Given the description of an element on the screen output the (x, y) to click on. 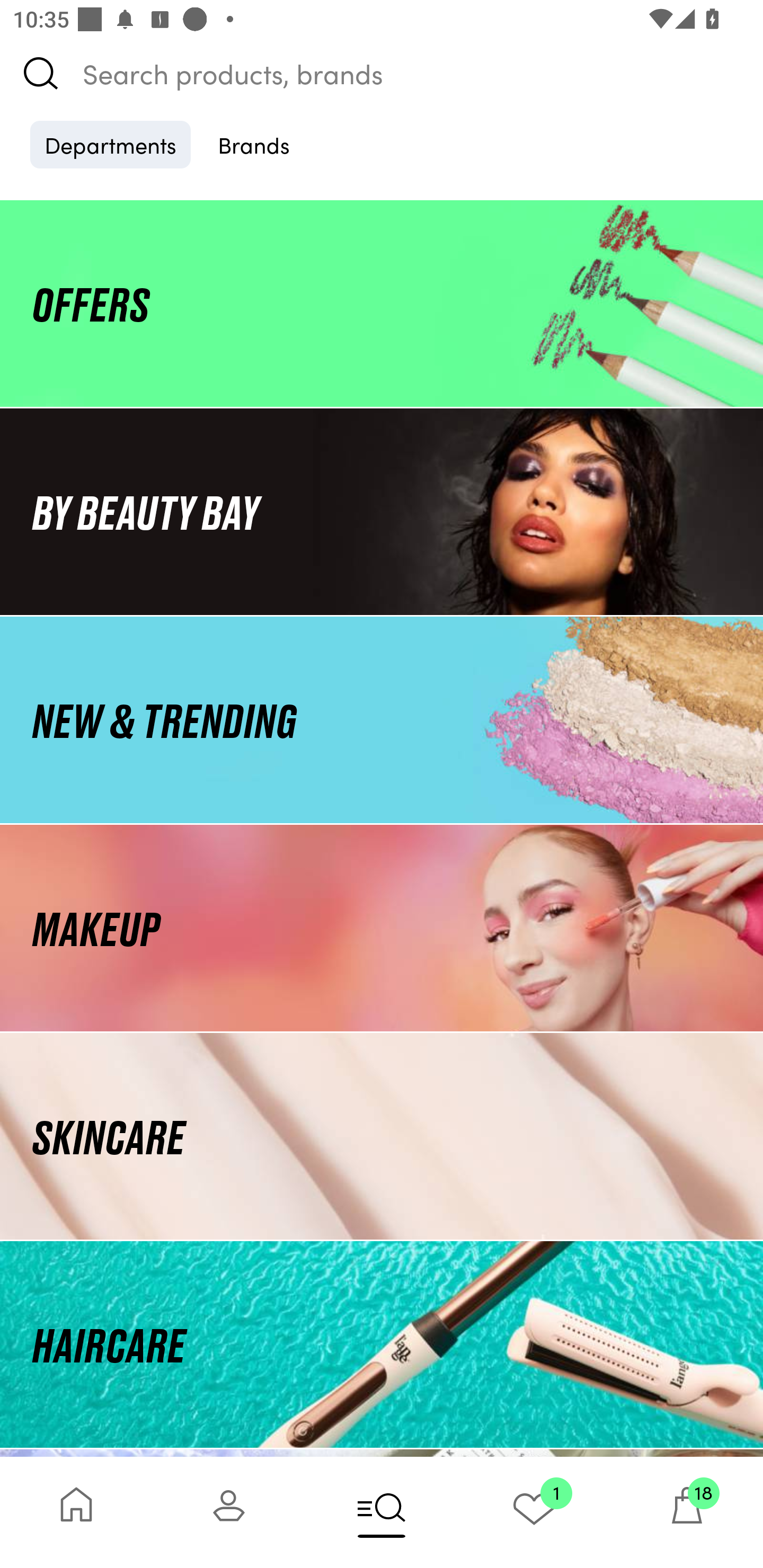
Search products, brands (381, 72)
Departments (110, 143)
Brands (253, 143)
OFFERS (381, 303)
BY BEAUTY BAY (381, 510)
NEW & TRENDING (381, 719)
MAKEUP (381, 927)
SKINCARE (381, 1136)
HAIRCARE (381, 1344)
1 (533, 1512)
18 (686, 1512)
